Given the description of an element on the screen output the (x, y) to click on. 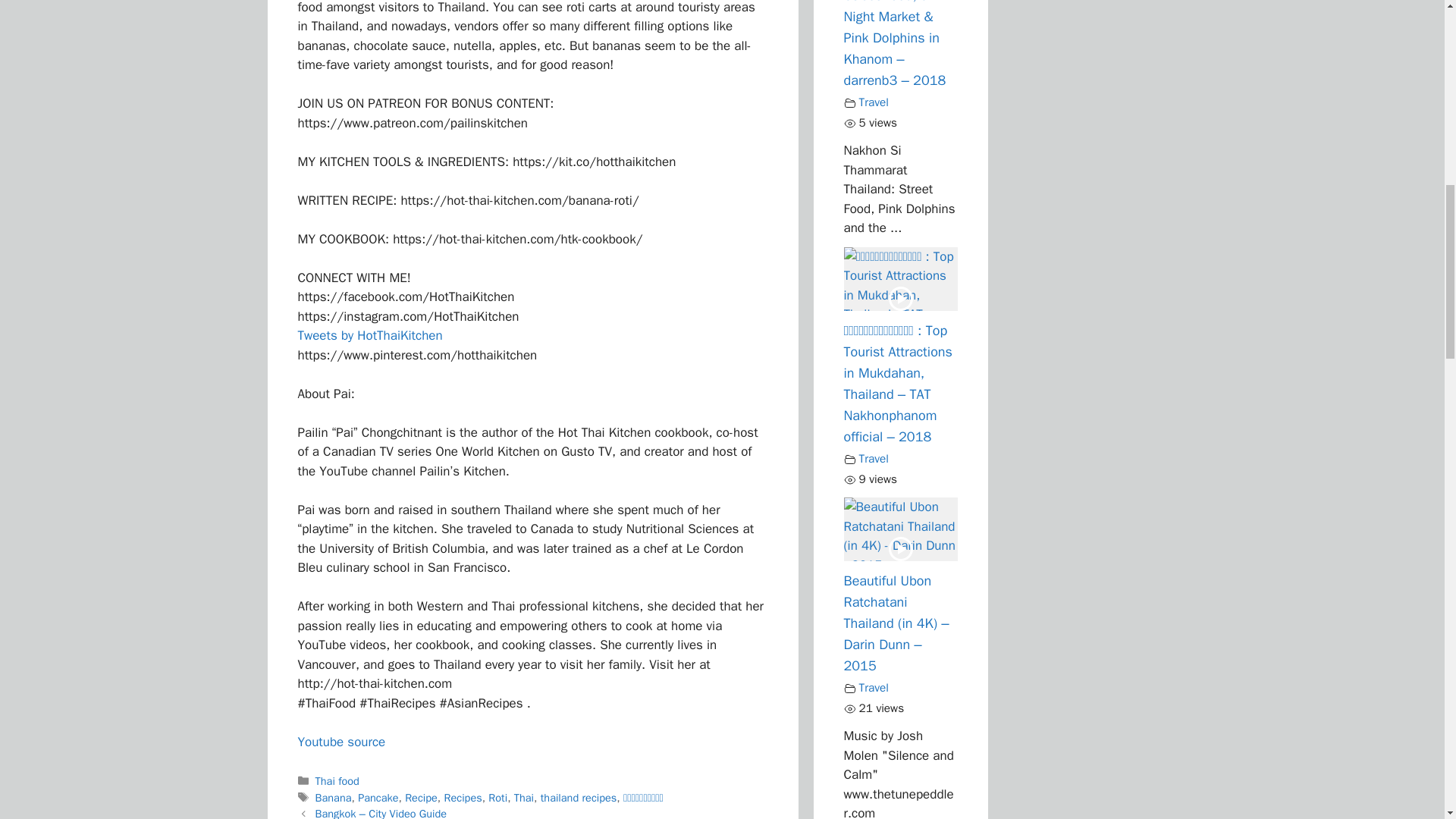
Pancake (377, 797)
Tweets by HotThaiKitchen (369, 335)
Recipe (421, 797)
Youtube source (341, 741)
Thai food (337, 780)
Banana (333, 797)
Roti (496, 797)
thailand recipes (578, 797)
Thai (523, 797)
Recipes (462, 797)
